Given the description of an element on the screen output the (x, y) to click on. 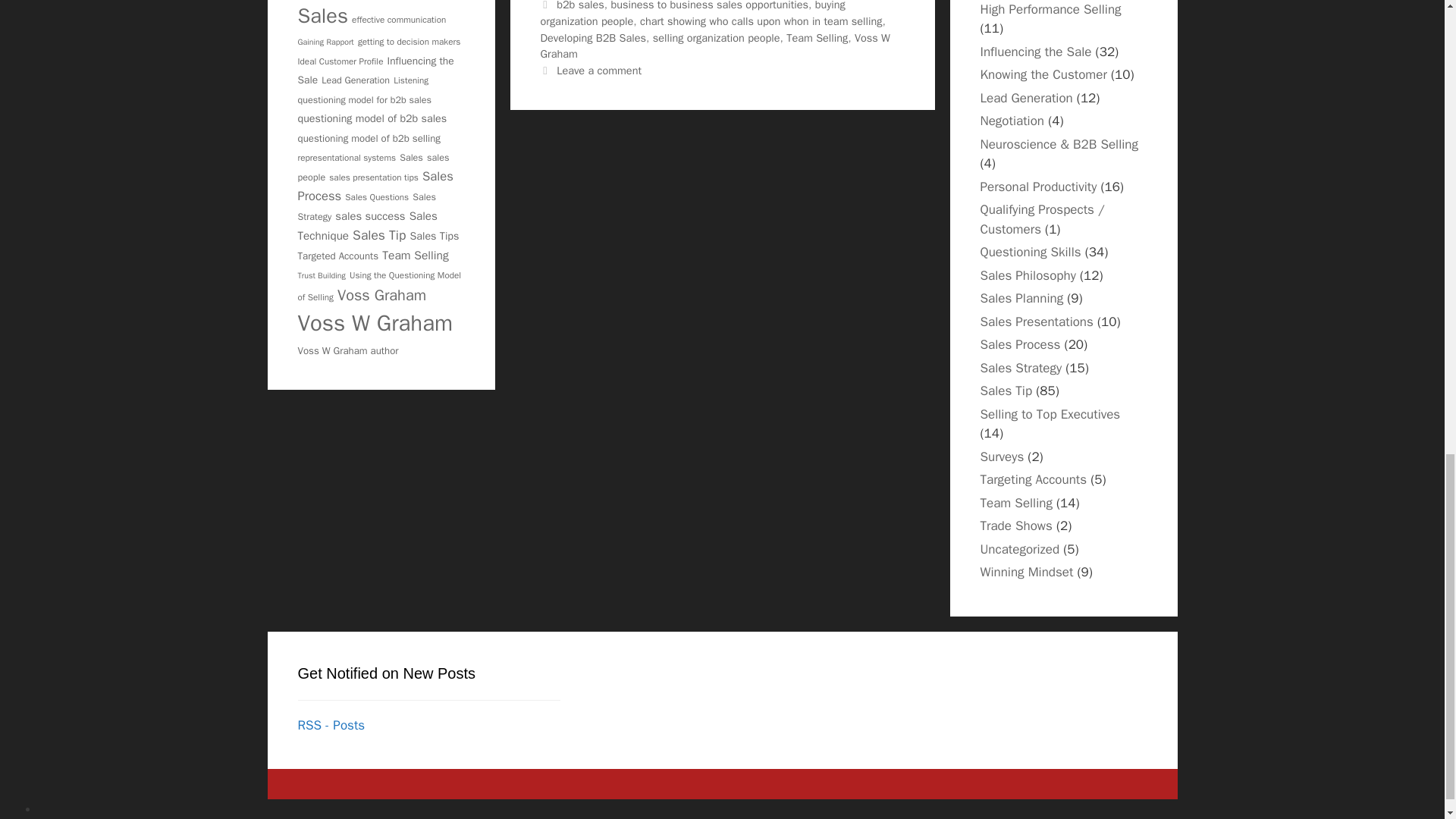
Voss W Graham (714, 46)
Team Selling (816, 38)
Developing B2B Sales (593, 38)
selling organization people (716, 38)
buying organization people (692, 13)
business to business sales opportunities (709, 5)
Leave a comment (599, 69)
b2b sales (580, 5)
chart showing who calls upon whon in team selling (761, 20)
